Given the description of an element on the screen output the (x, y) to click on. 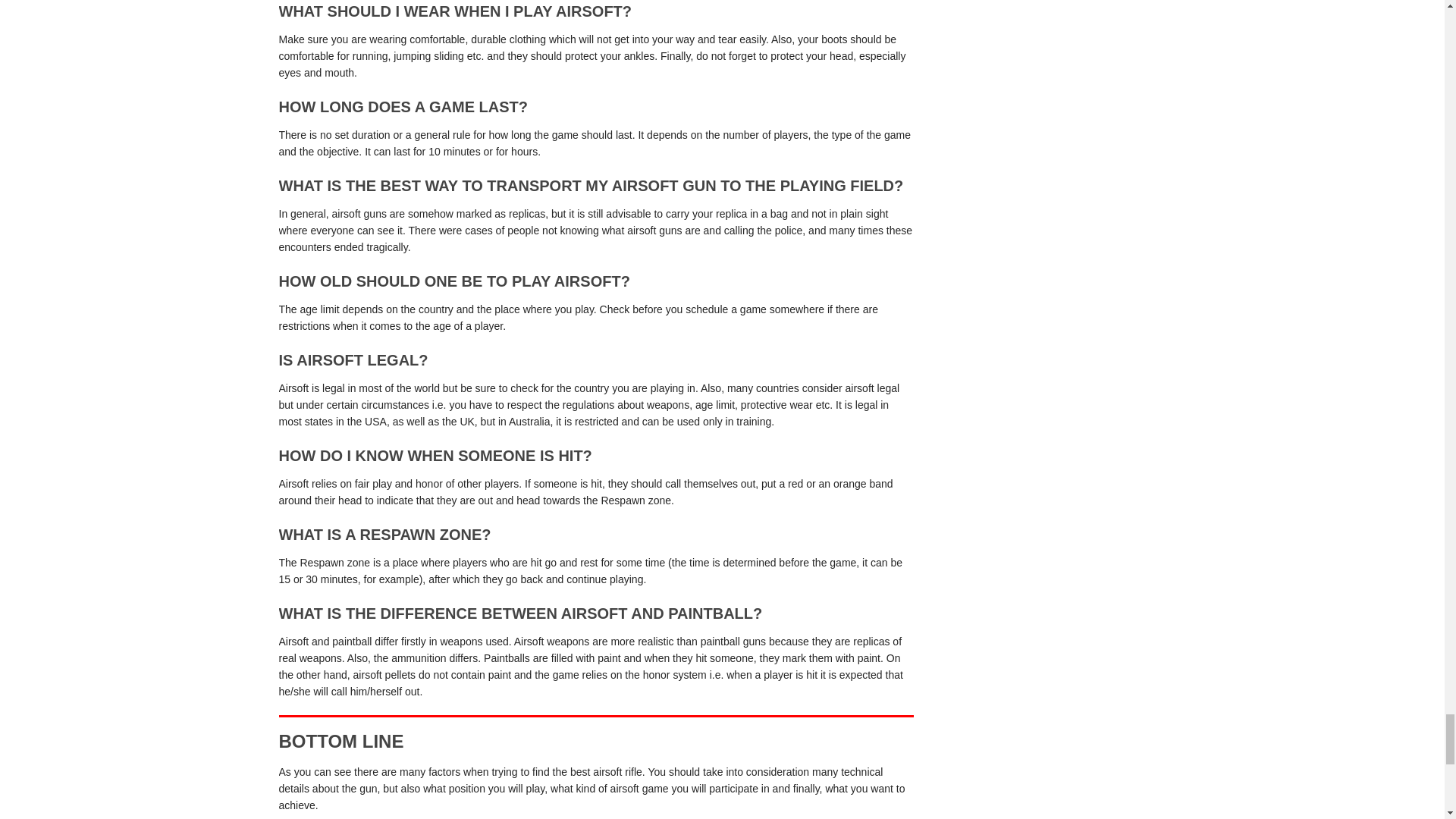
Airsoft and paintball differ (338, 641)
